Given the description of an element on the screen output the (x, y) to click on. 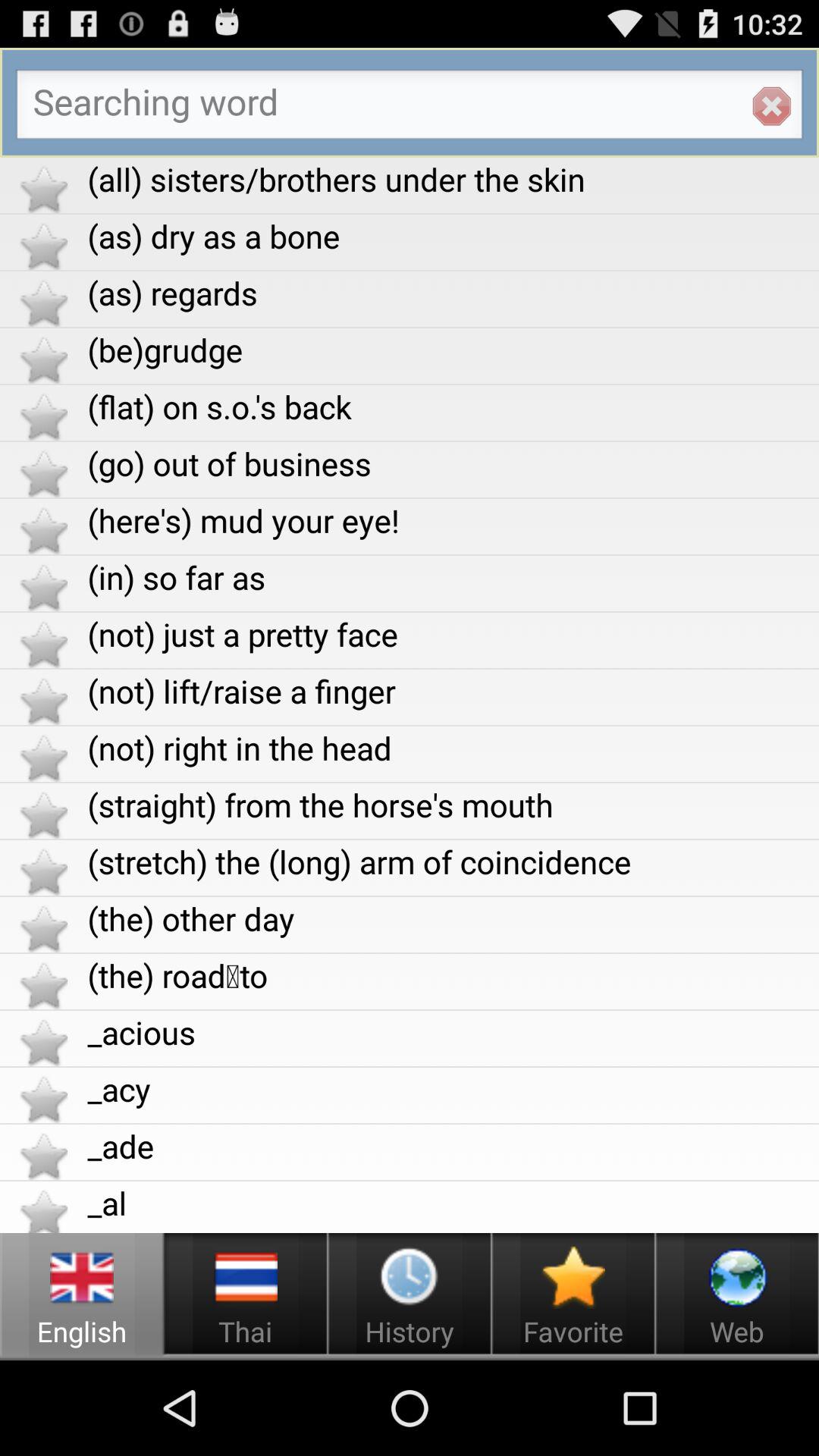
search box (409, 108)
